Given the description of an element on the screen output the (x, y) to click on. 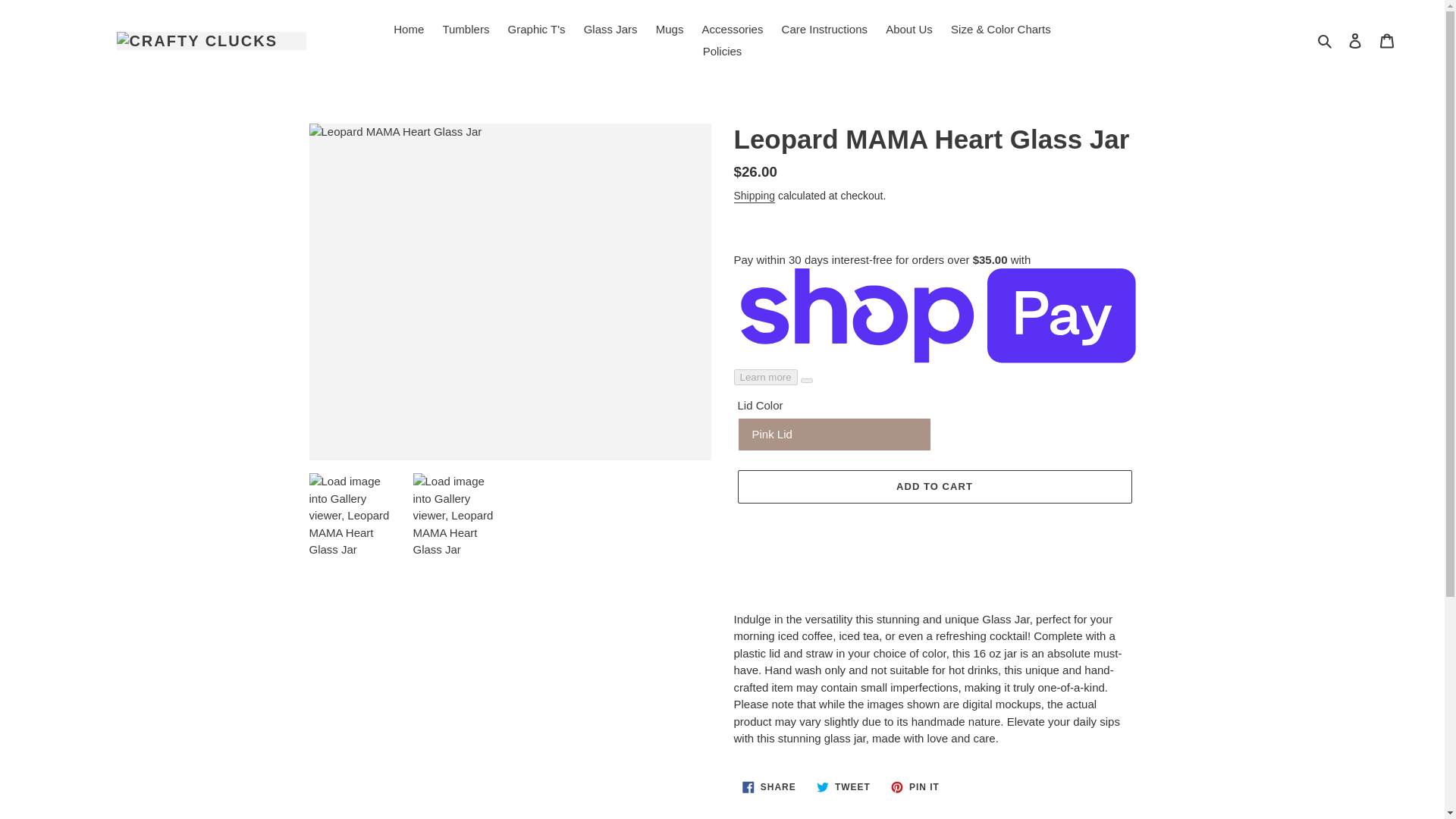
Policies (722, 51)
ADD TO CART (933, 486)
Graphic T's (536, 29)
Mugs (669, 29)
Cart (1387, 40)
Tumblers (914, 786)
Home (464, 29)
Care Instructions (407, 29)
Glass Jars (824, 29)
